Given the description of an element on the screen output the (x, y) to click on. 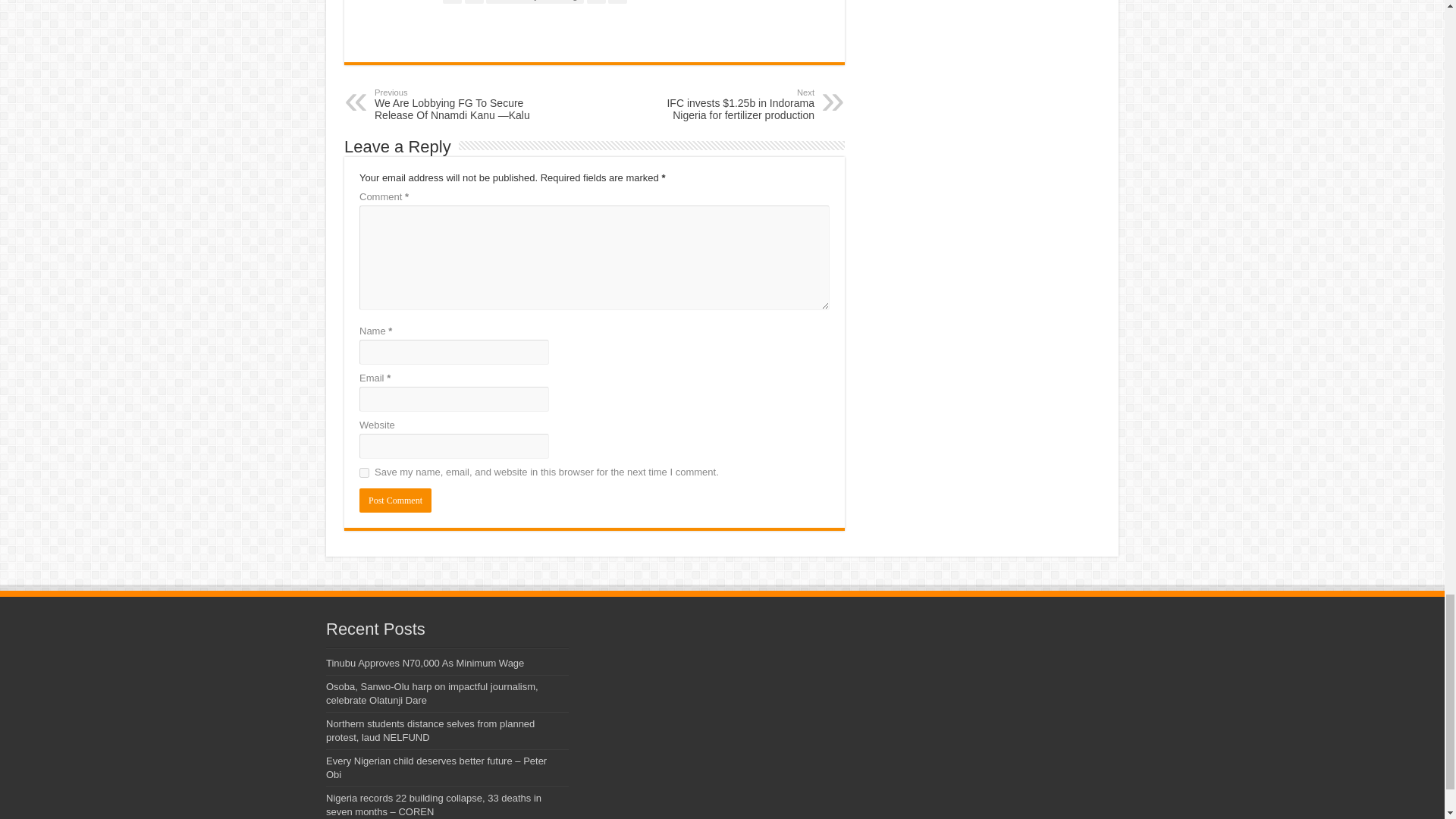
Post Comment (394, 500)
yes (364, 472)
